Given the description of an element on the screen output the (x, y) to click on. 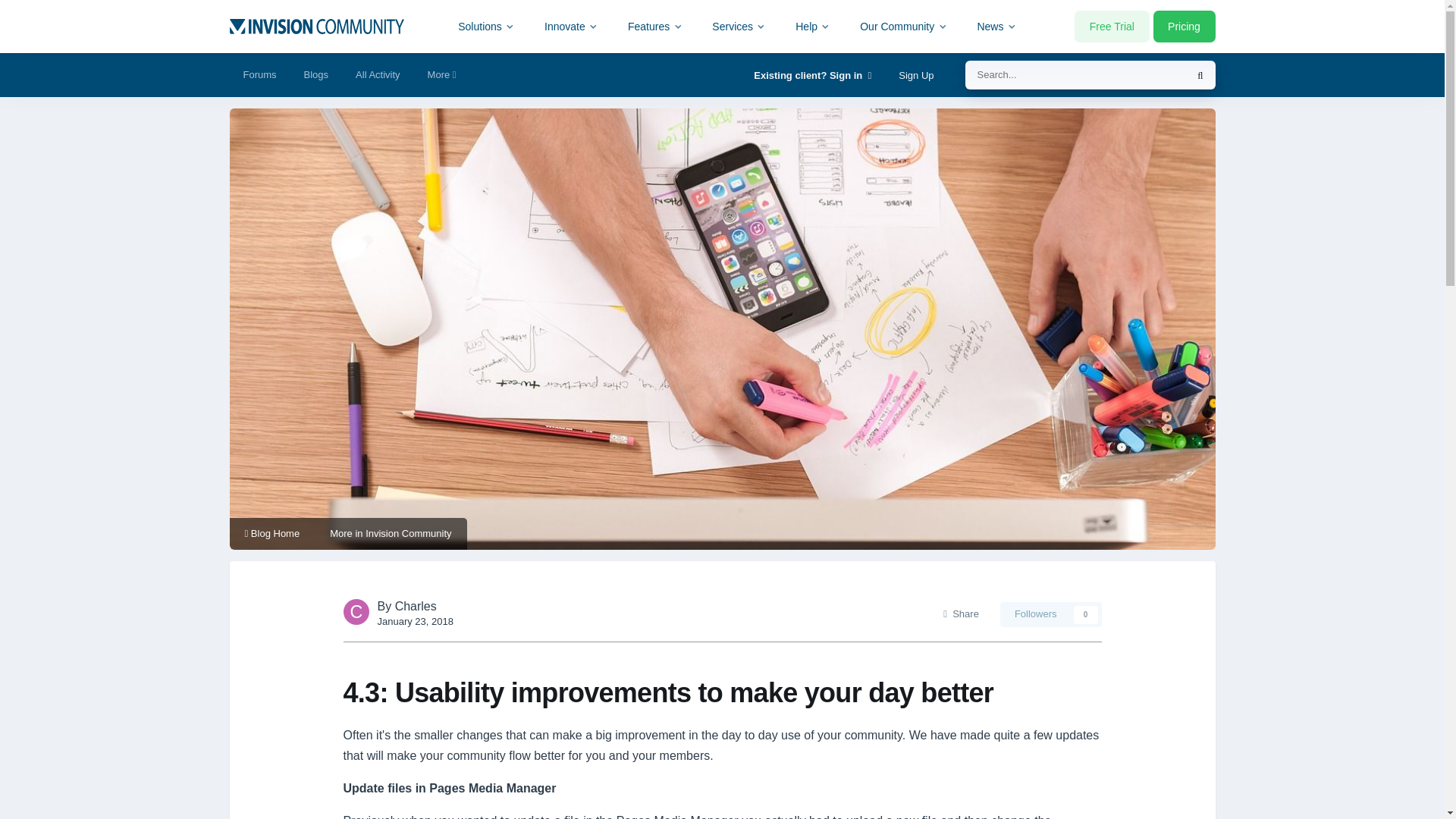
Innovate (570, 26)
Features (654, 26)
Services (738, 26)
Help (812, 26)
Solutions (486, 26)
